Given the description of an element on the screen output the (x, y) to click on. 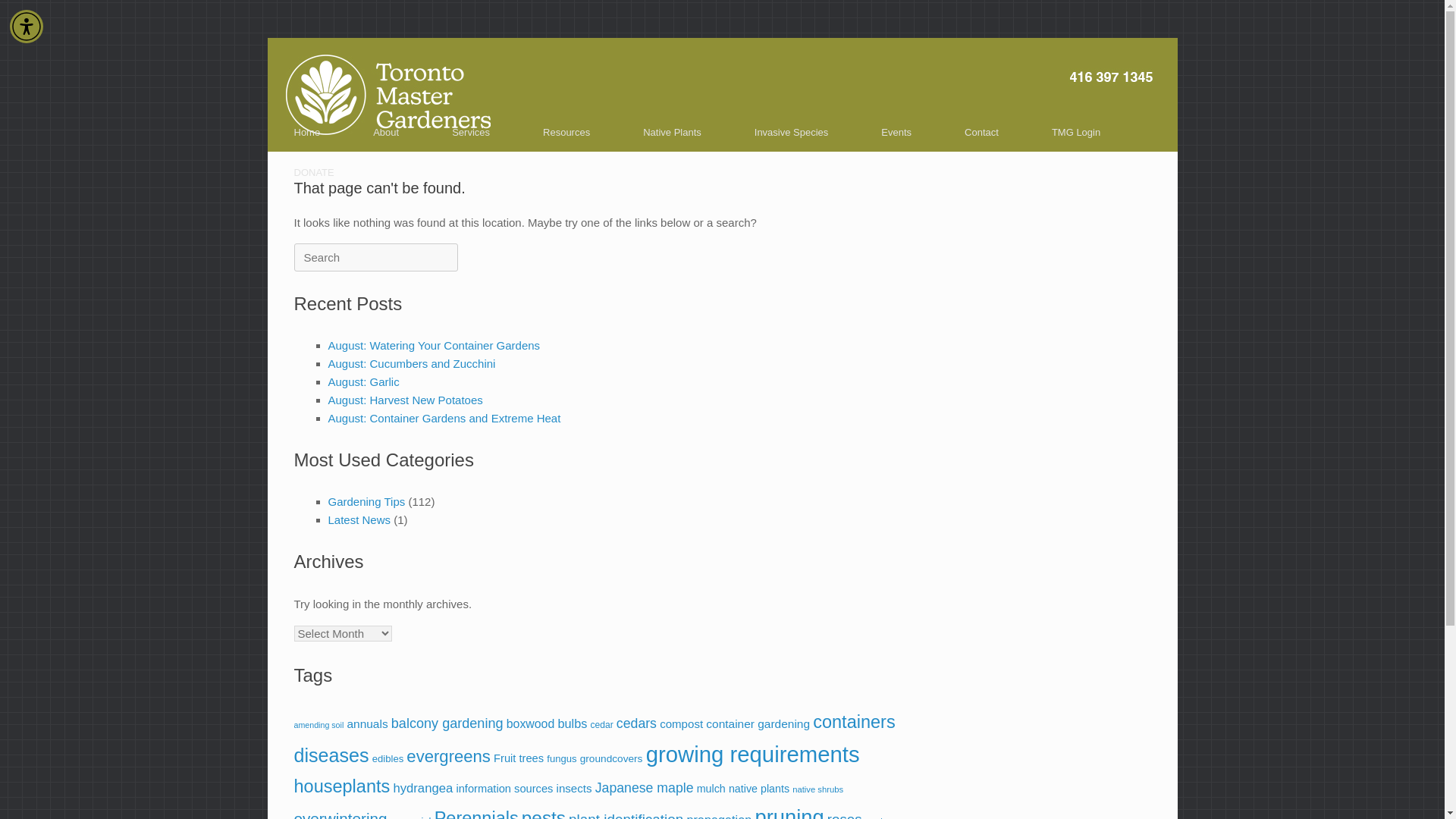
August: Harvest New Potatoes (404, 399)
houseplants (342, 786)
Gardening Tips (365, 501)
About (385, 132)
boxwood (530, 723)
Events (895, 132)
August: Watering Your Container Gardens (433, 345)
bulbs (571, 723)
growing requirements (753, 754)
evergreens (448, 755)
